Given the description of an element on the screen output the (x, y) to click on. 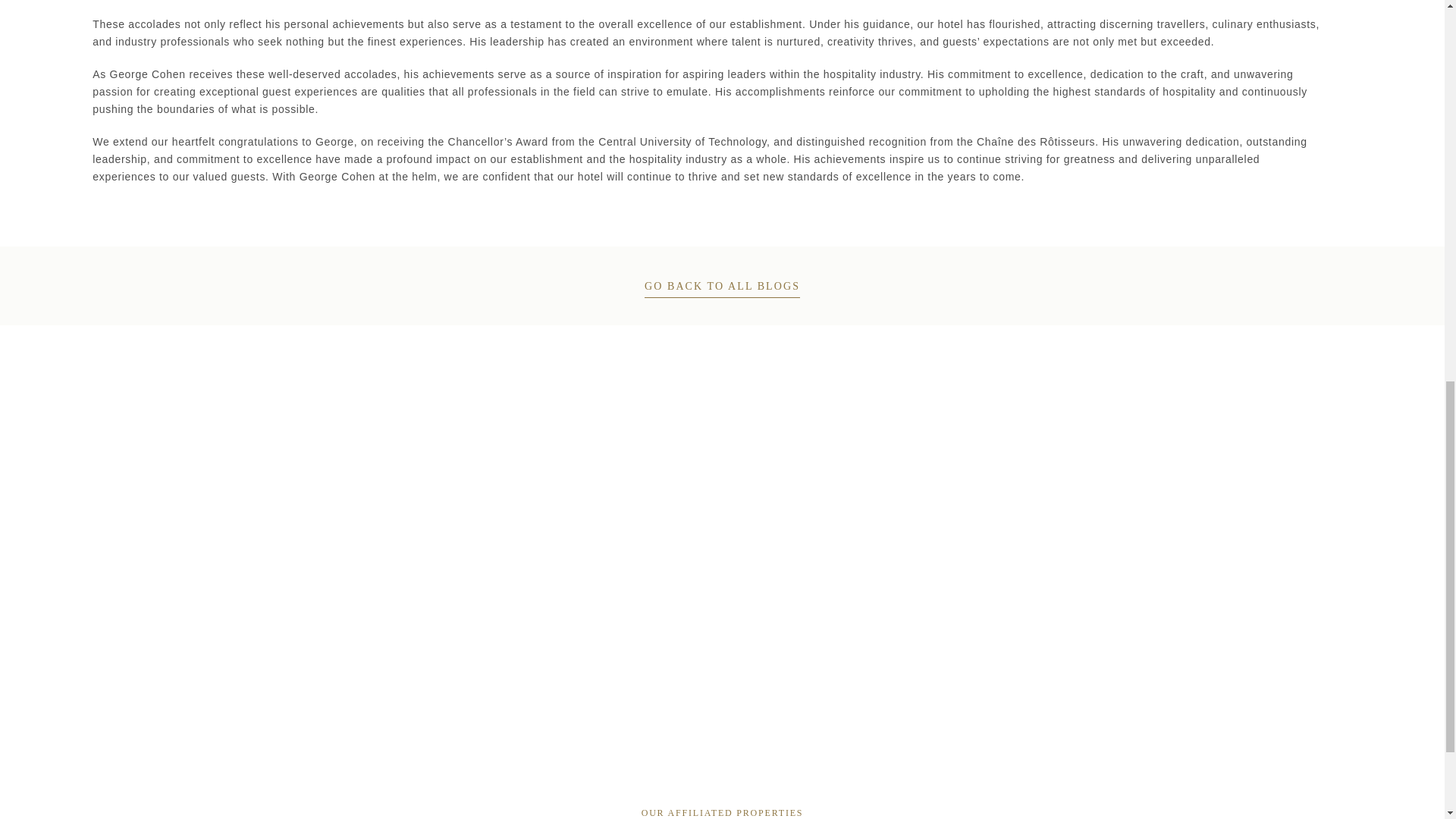
GO BACK TO ALL BLOGS (722, 286)
